Given the description of an element on the screen output the (x, y) to click on. 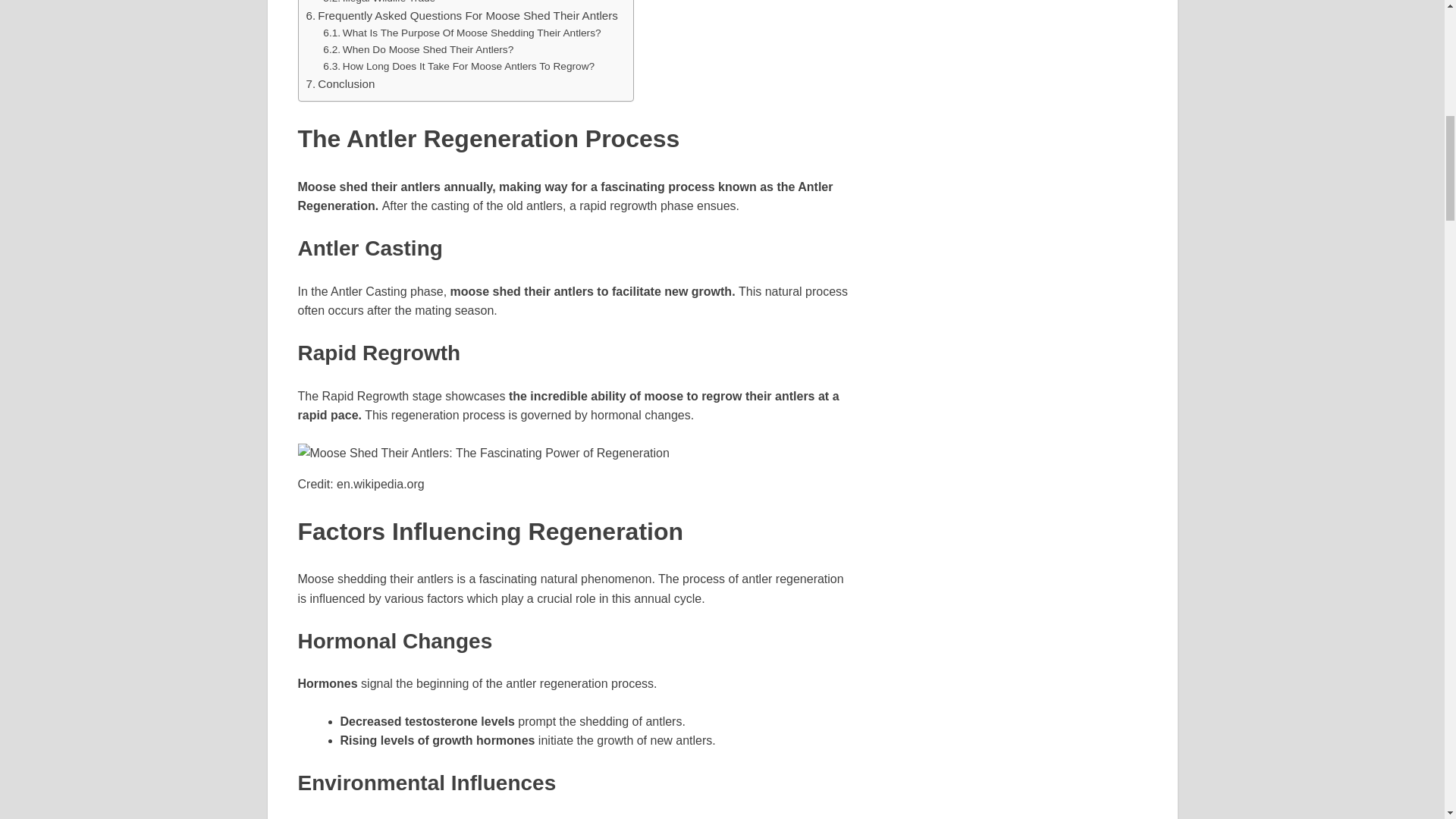
When Do Moose Shed Their Antlers? (418, 49)
Conclusion (340, 84)
Frequently Asked Questions For Moose Shed Their Antlers (461, 15)
What Is The Purpose Of Moose Shedding Their Antlers? (461, 33)
Illegal Wildlife Trade (379, 3)
How Long Does It Take For Moose Antlers To Regrow? (458, 66)
